Given the description of an element on the screen output the (x, y) to click on. 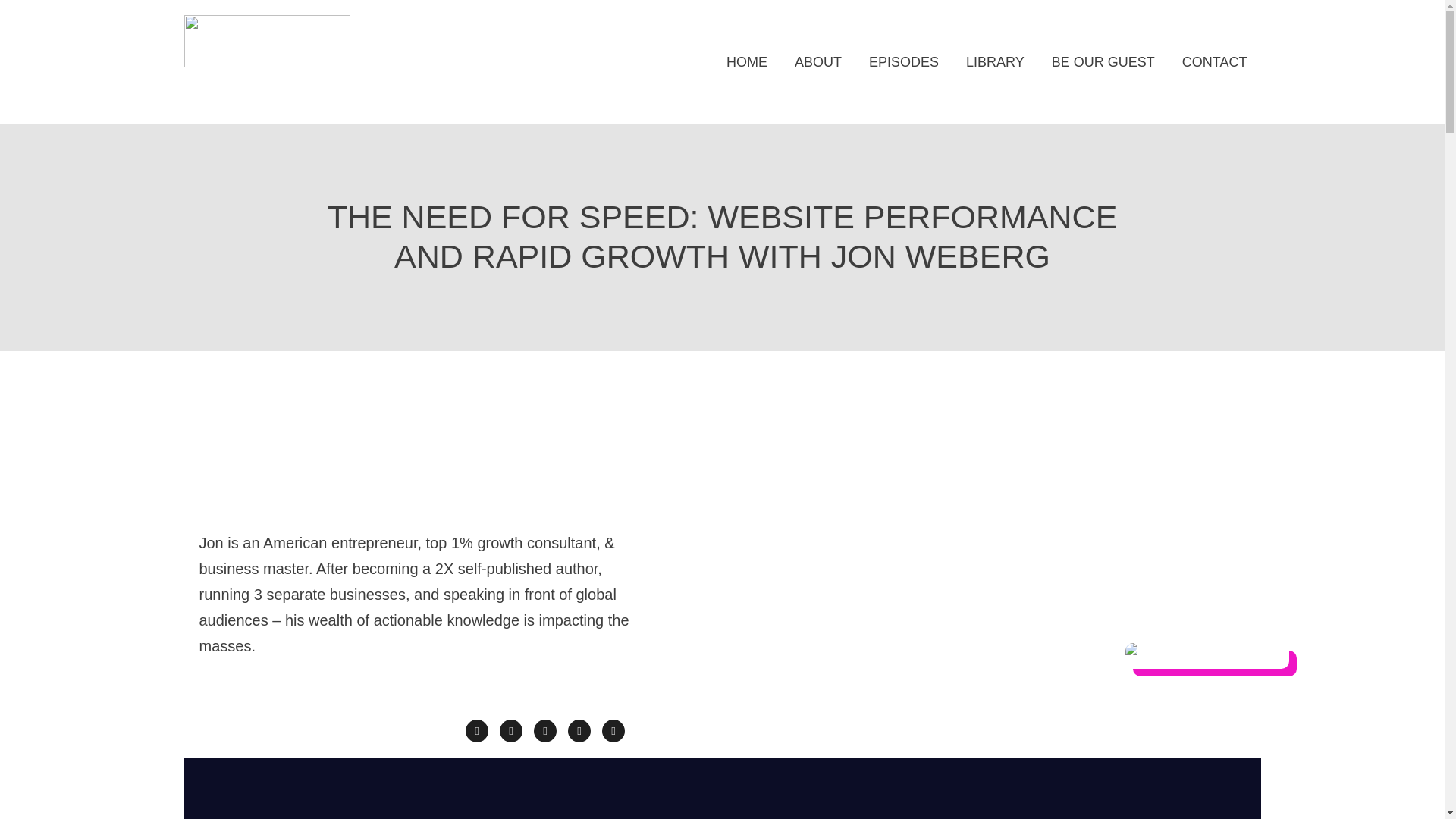
BE OUR GUEST (1102, 61)
EPISODES (904, 61)
HOME (746, 61)
LIBRARY (995, 61)
JonWebergHeadshot (1206, 655)
CONTACT (1214, 61)
ABOUT (817, 61)
